Given the description of an element on the screen output the (x, y) to click on. 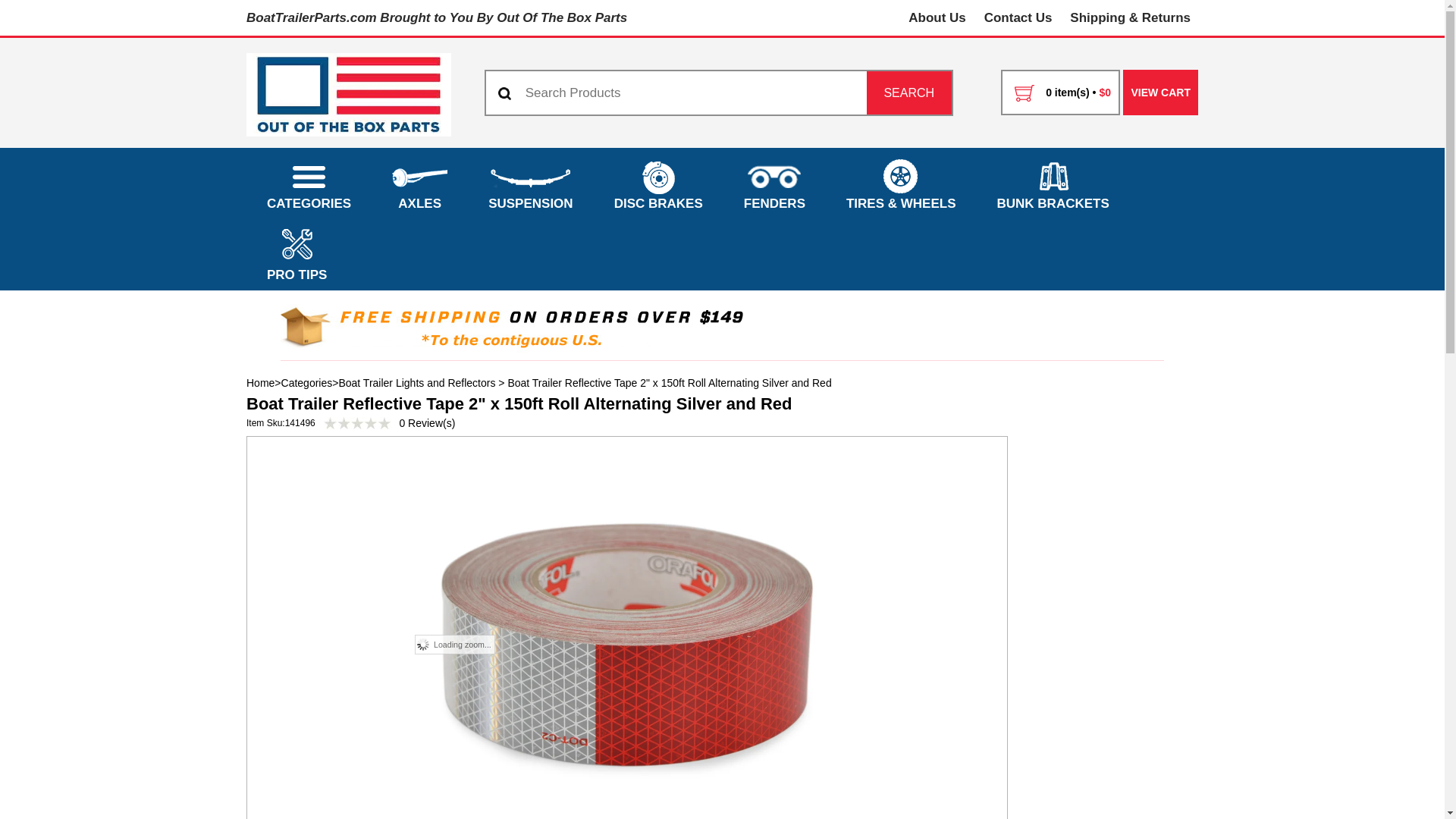
CATEGORIES (308, 183)
About Us (937, 18)
VIEW CART (1160, 92)
SEARCH (909, 92)
Contact Us (1017, 18)
